Given the description of an element on the screen output the (x, y) to click on. 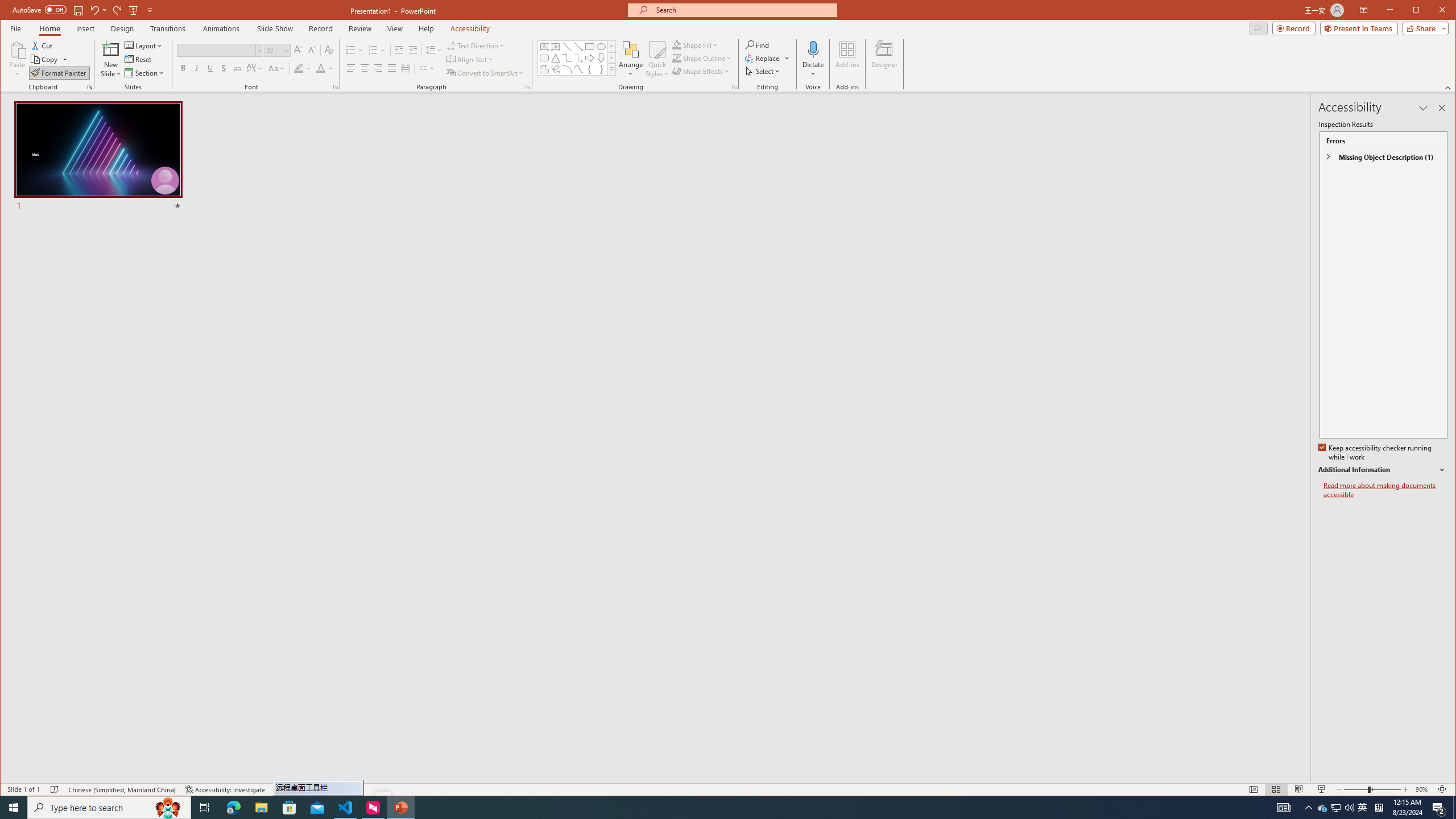
Microsoft Edge (233, 807)
